Given the description of an element on the screen output the (x, y) to click on. 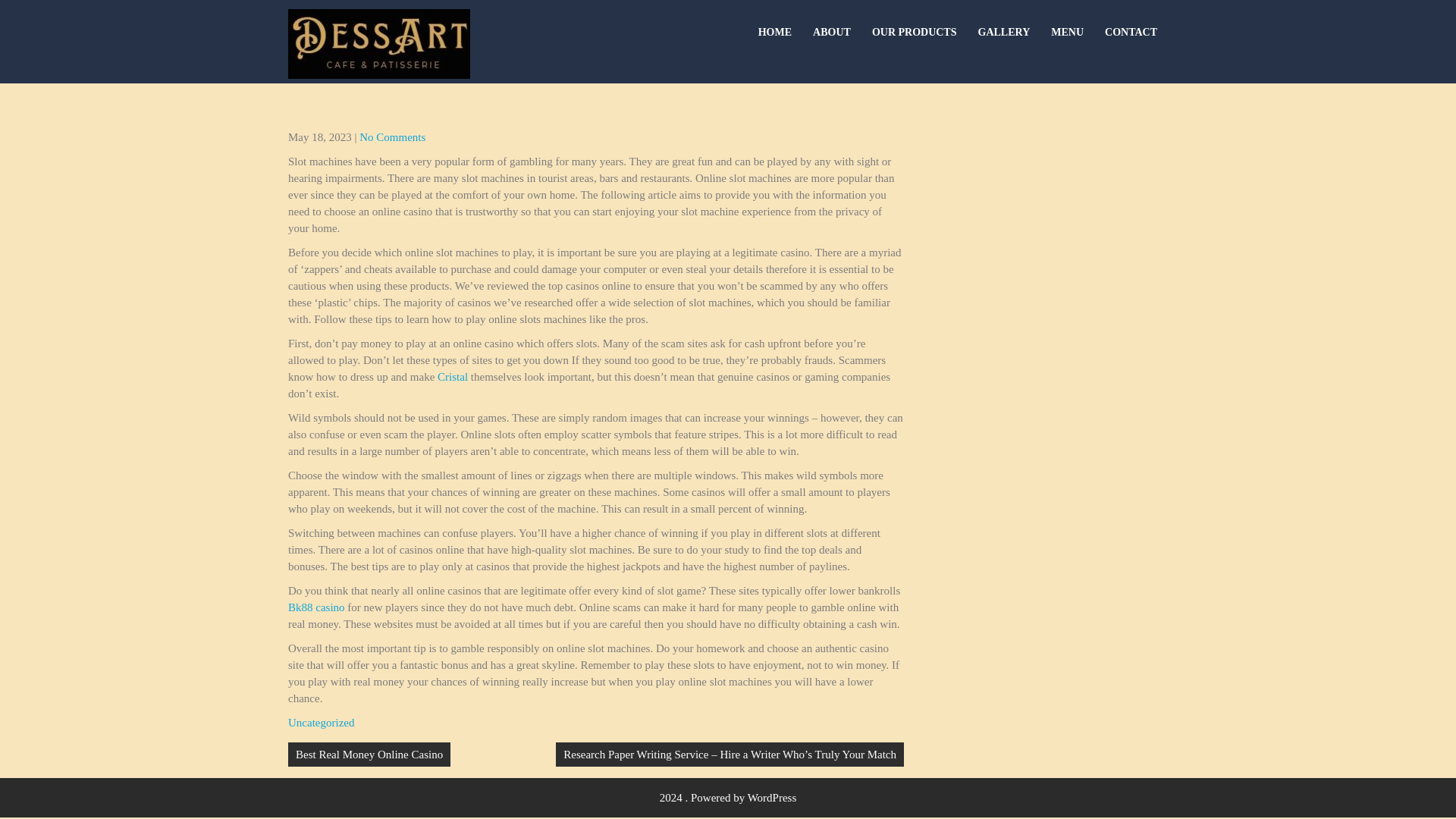
Uncategorized (320, 722)
2024 . Powered by WordPress (727, 797)
OUR PRODUCTS (914, 32)
CONTACT (1130, 32)
GALLERY (1004, 32)
ABOUT (831, 32)
No Comments (392, 137)
Bk88 casino (316, 607)
Cristal (452, 377)
Best Real Money Online Casino (368, 754)
